Given the description of an element on the screen output the (x, y) to click on. 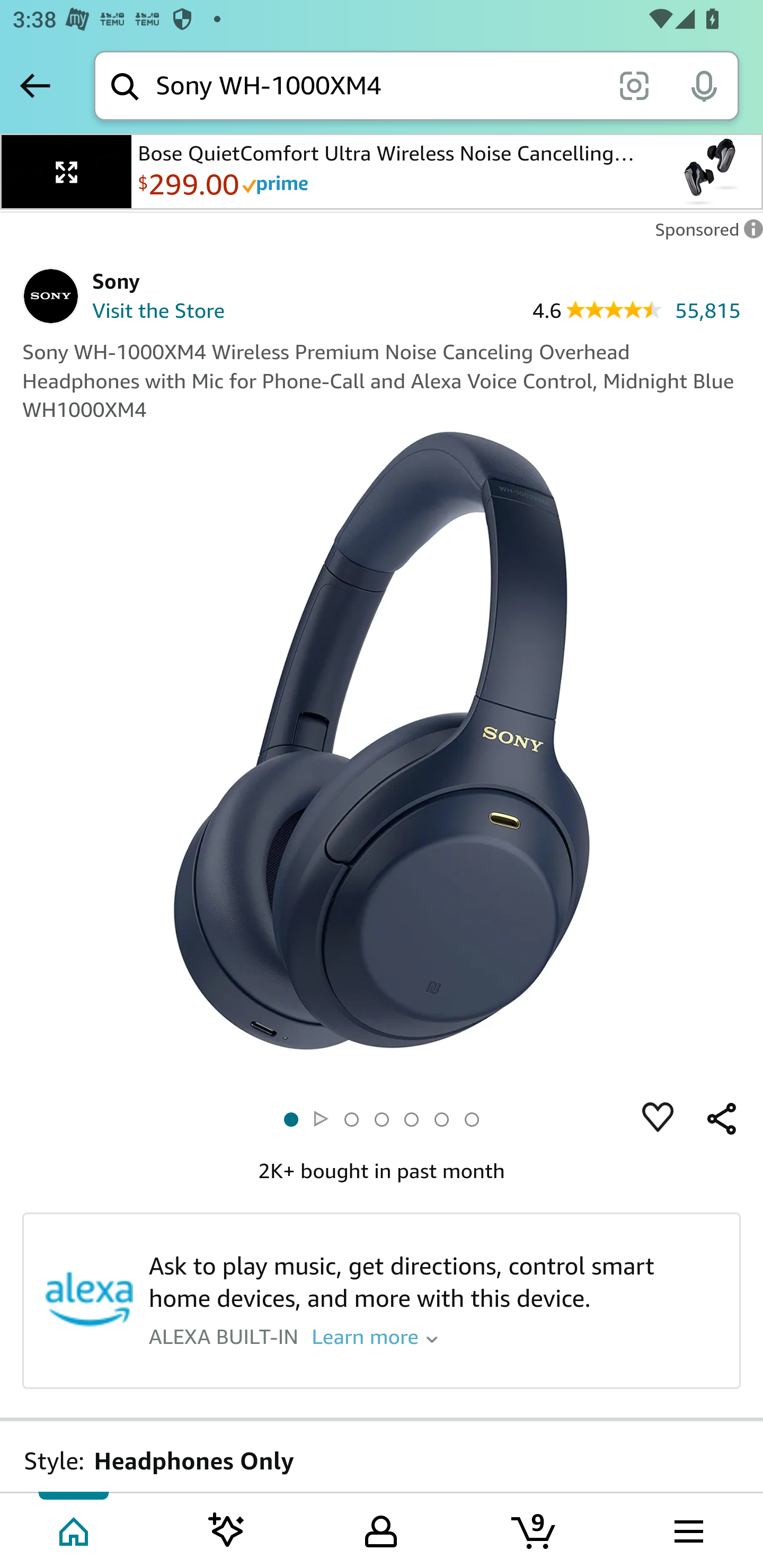
Back (35, 85)
scan it (633, 85)
Expand Video Icon (66, 171)
Leave feedback on Sponsored ad Sponsored  (703, 234)
4.6 55,815 4.6  55,815 (635, 309)
Visit the Store, Sony (120, 312)
Heart to save an item to your default list (657, 1118)
Learn more (374, 1334)
Home Tab 1 of 5 (75, 1529)
Inspire feed Tab 2 of 5 (227, 1529)
Your Amazon.com Tab 3 of 5 (380, 1529)
Cart 9 items Tab 4 of 5 9 (534, 1529)
Browse menu Tab 5 of 5 (687, 1529)
